Given the description of an element on the screen output the (x, y) to click on. 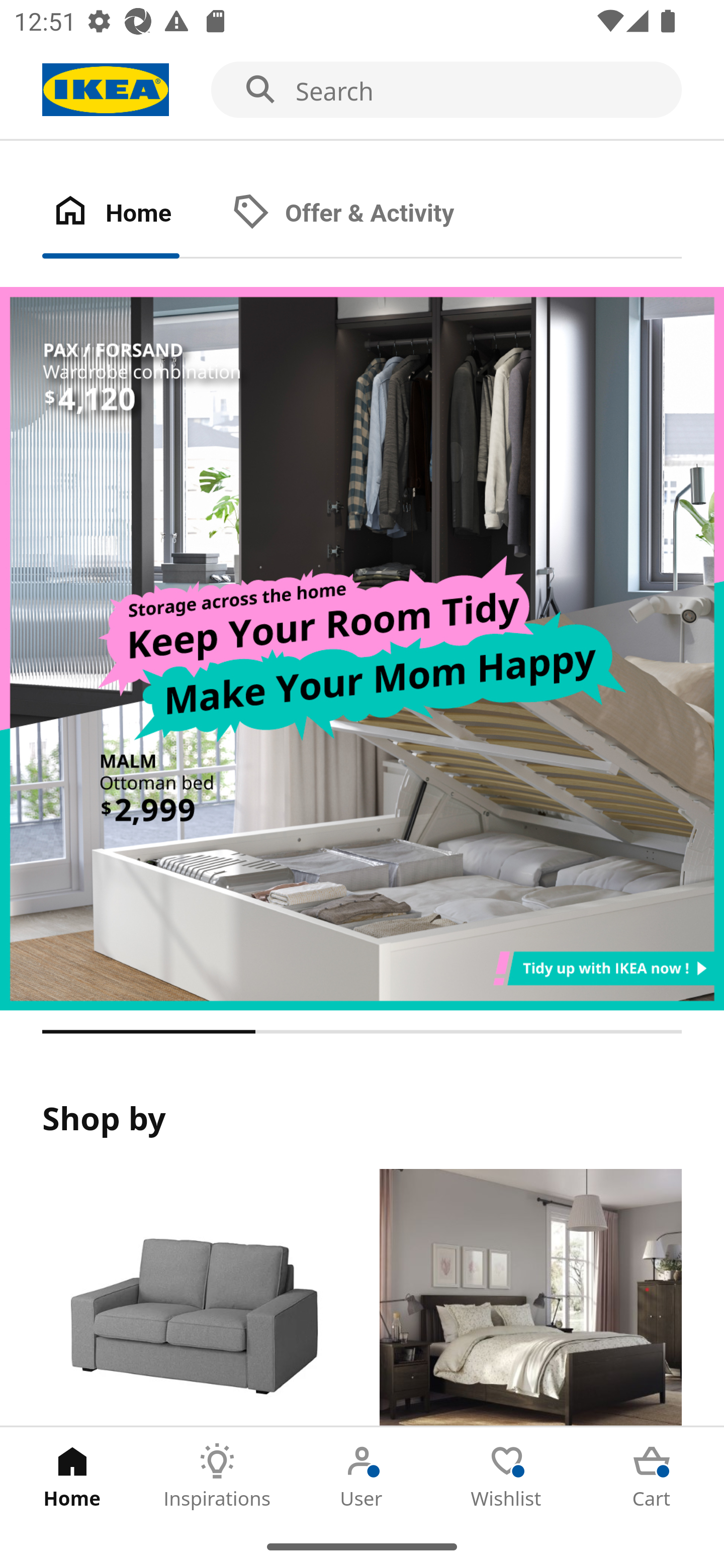
Search (361, 90)
Home
Tab 1 of 2 (131, 213)
Offer & Activity
Tab 2 of 2 (363, 213)
Products (192, 1297)
Rooms (530, 1297)
Home
Tab 1 of 5 (72, 1476)
Inspirations
Tab 2 of 5 (216, 1476)
User
Tab 3 of 5 (361, 1476)
Wishlist
Tab 4 of 5 (506, 1476)
Cart
Tab 5 of 5 (651, 1476)
